Given the description of an element on the screen output the (x, y) to click on. 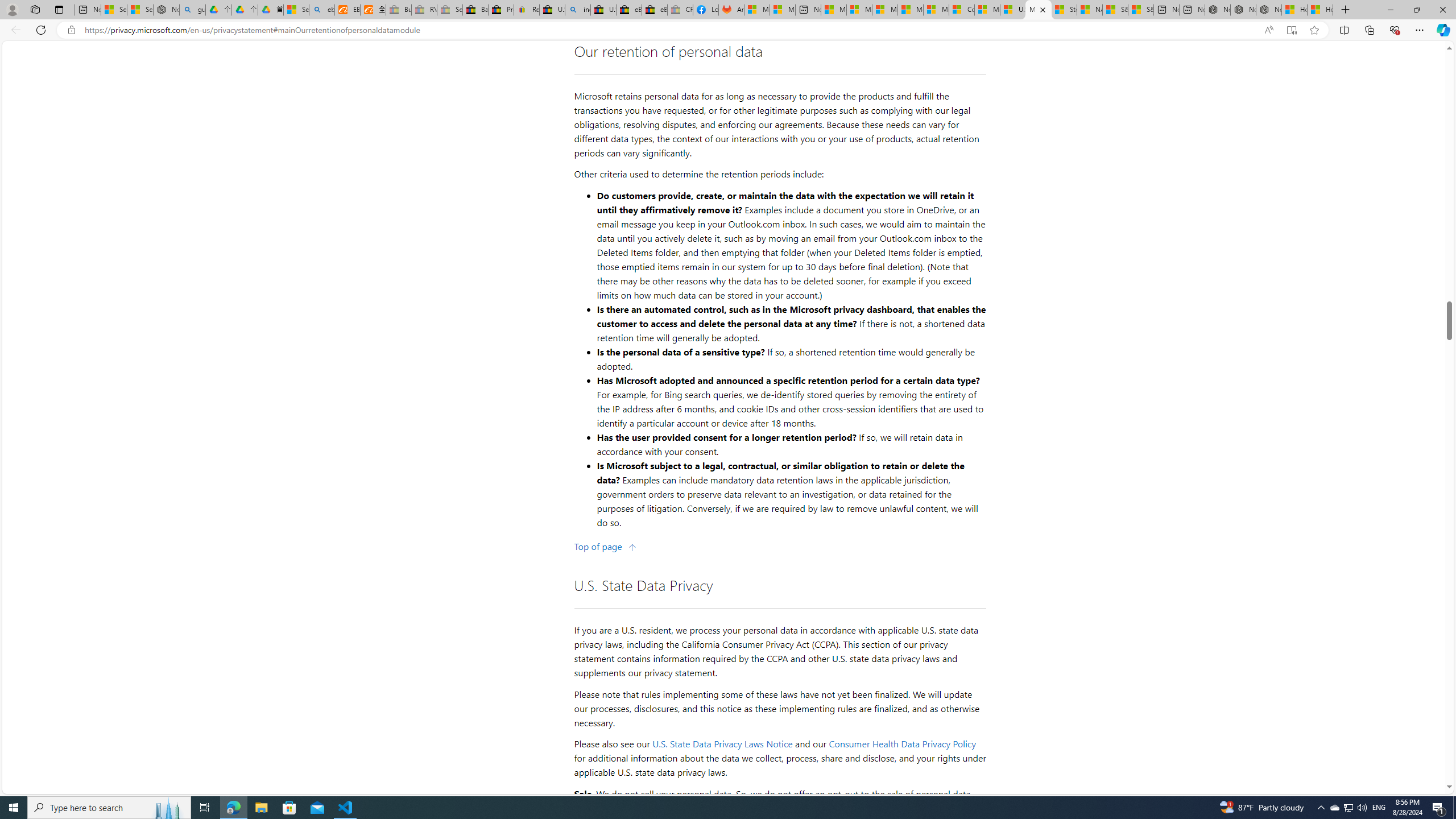
Top of page (605, 546)
Buy Auto Parts & Accessories | eBay - Sleeping (398, 9)
U.S. State Privacy Disclosures - eBay Inc. (603, 9)
U.S. State Data Privacy Laws Notice (722, 743)
Press Room - eBay Inc. (500, 9)
